Given the description of an element on the screen output the (x, y) to click on. 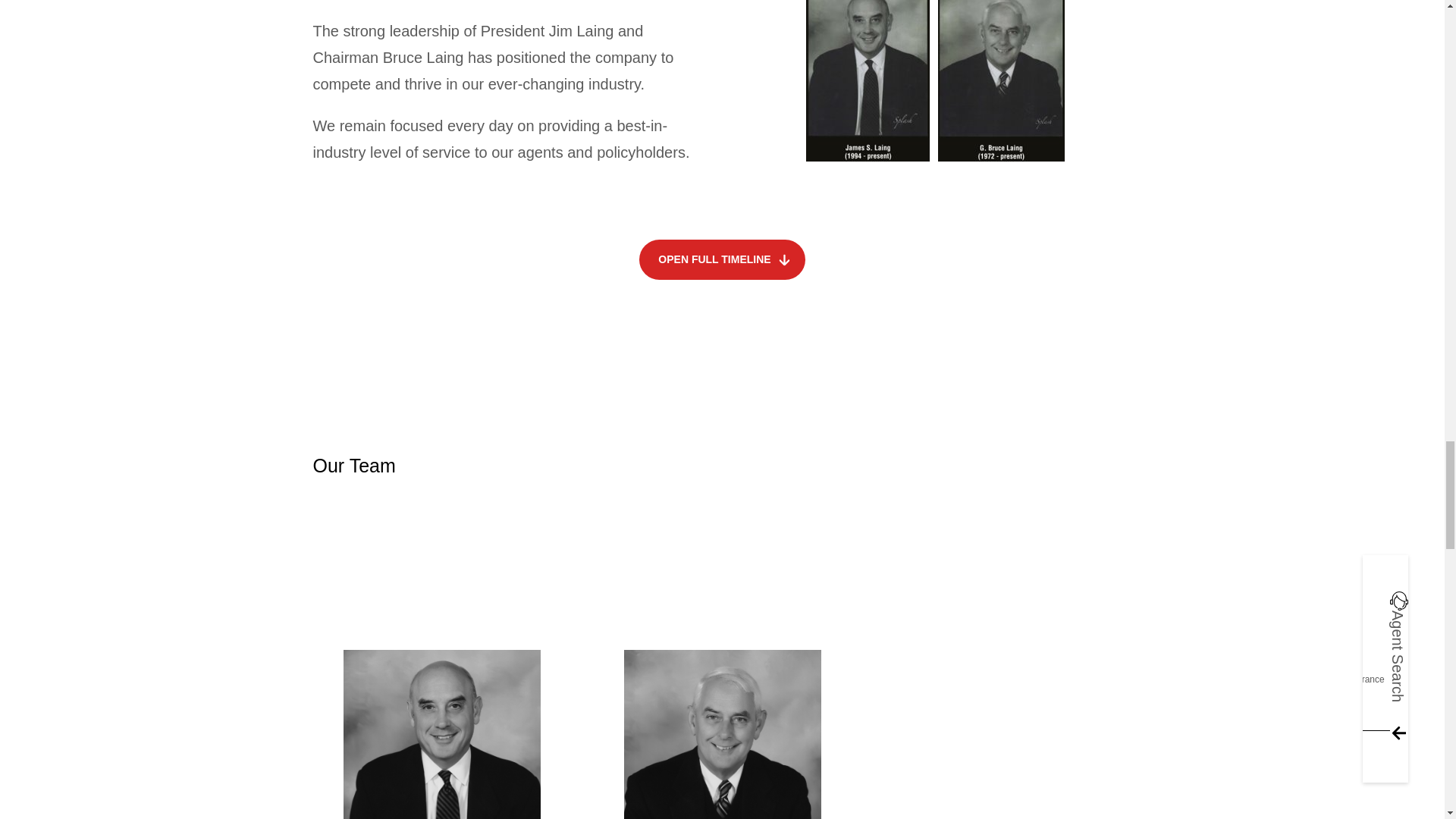
Jim and Bruce Pic 2 (441, 734)
OPEN FULL TIMELINE (935, 82)
